Given the description of an element on the screen output the (x, y) to click on. 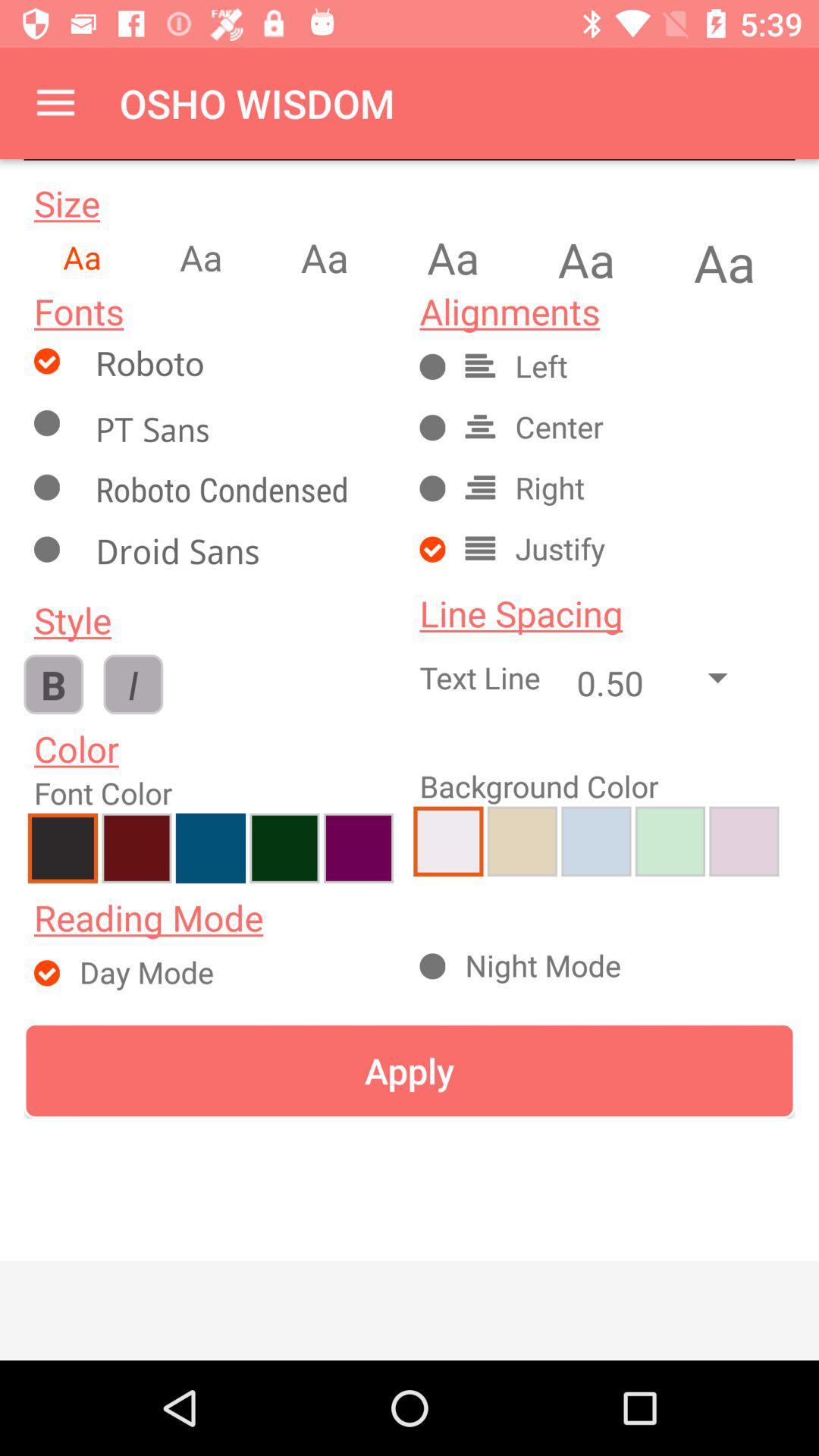
open the icon to the right of b item (133, 684)
